Given the description of an element on the screen output the (x, y) to click on. 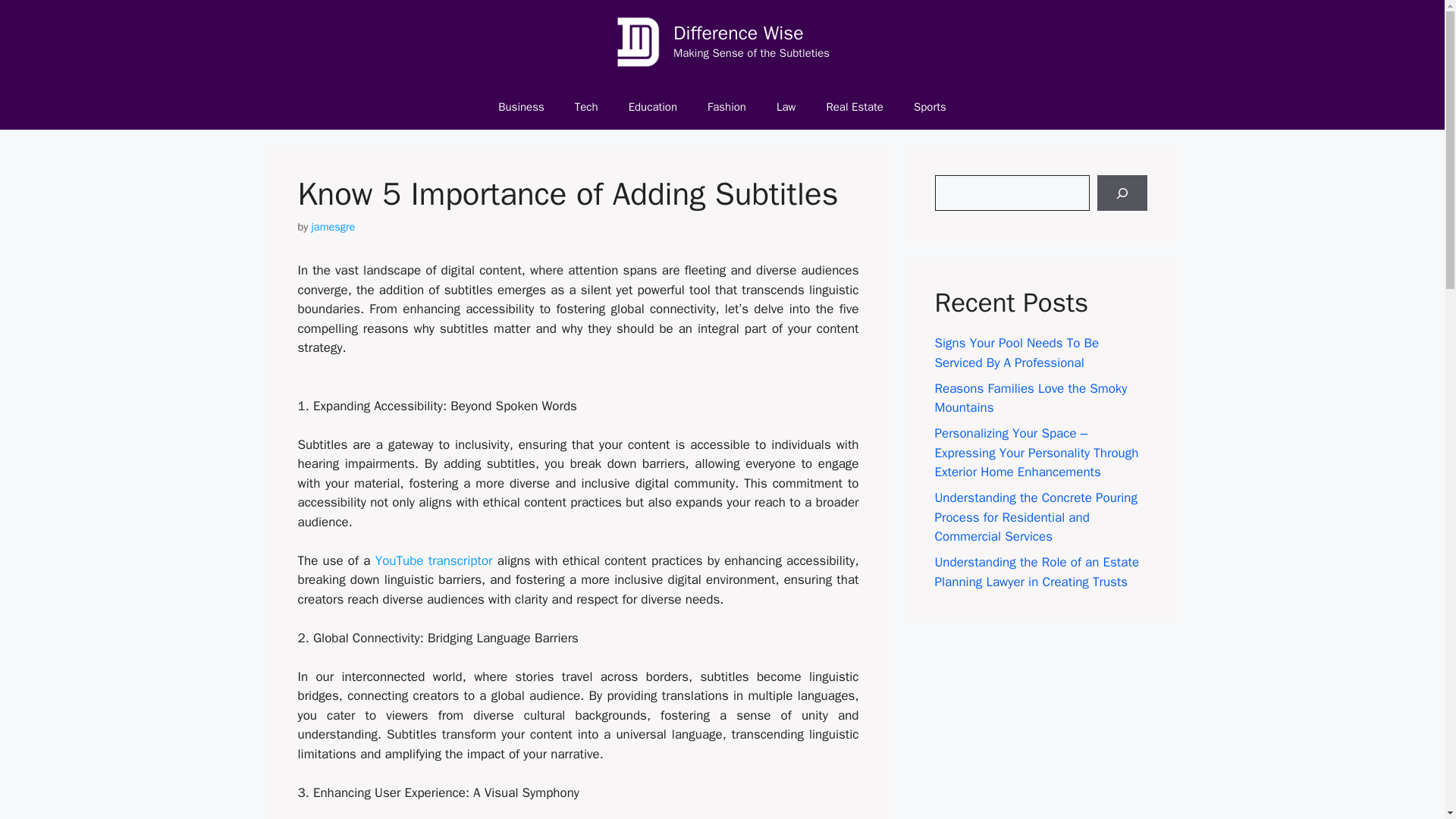
Fashion (727, 106)
View all posts by jamesgre (333, 226)
Business (521, 106)
YouTube transcriptor (434, 560)
Reasons Families Love the Smoky Mountains (1030, 398)
Tech (585, 106)
Difference Wise (737, 33)
Sports (929, 106)
jamesgre (333, 226)
Real Estate (854, 106)
Signs Your Pool Needs To Be Serviced By A Professional (1016, 352)
Education (652, 106)
Law (785, 106)
